Given the description of an element on the screen output the (x, y) to click on. 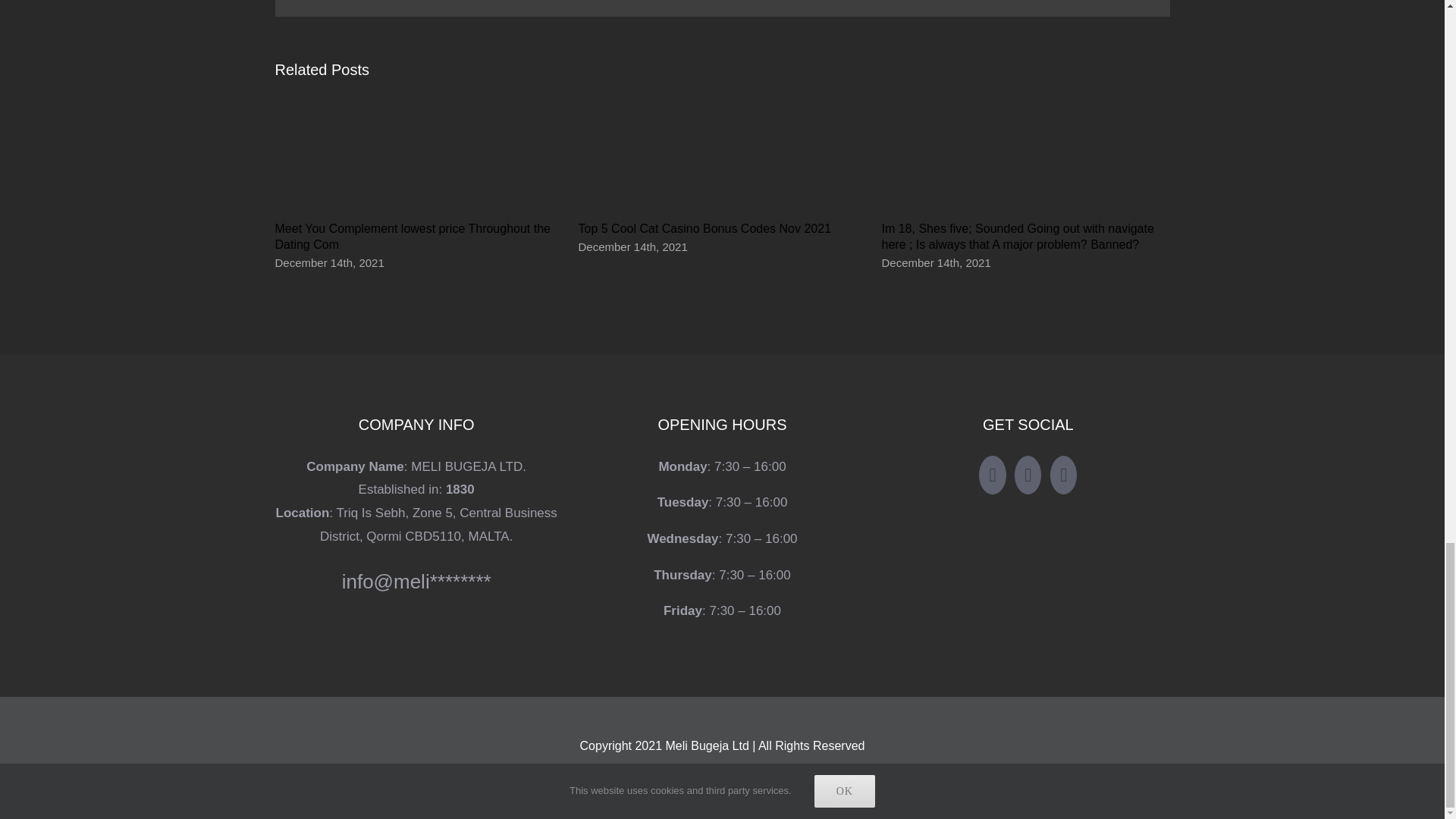
Top 5 Cool Cat Casino Bonus Codes Nov 2021 (704, 228)
Meet You Complement lowest price Throughout the Dating Com (412, 236)
